Given the description of an element on the screen output the (x, y) to click on. 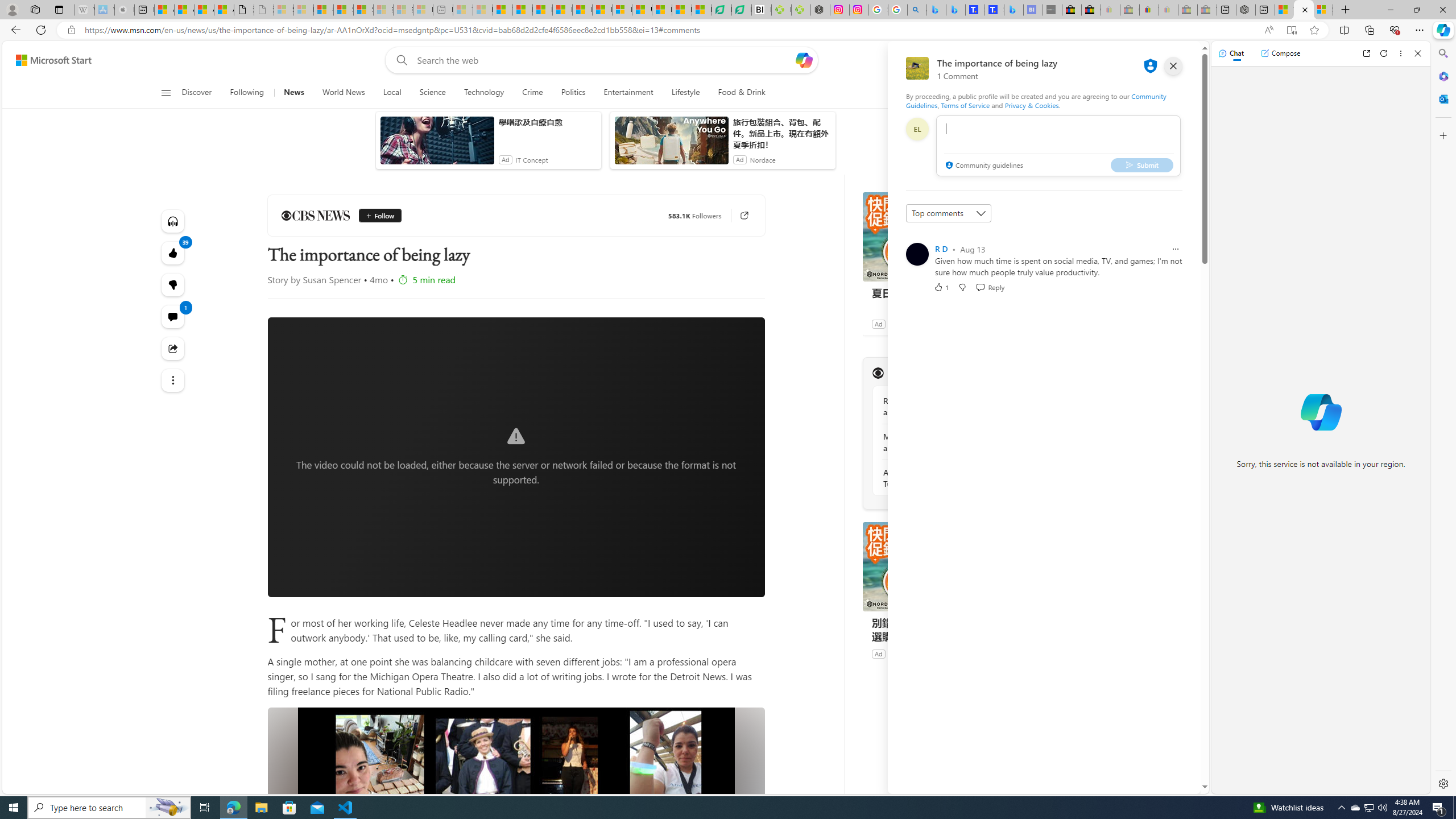
Threats and offensive language policy | eBay (1148, 9)
